Given the description of an element on the screen output the (x, y) to click on. 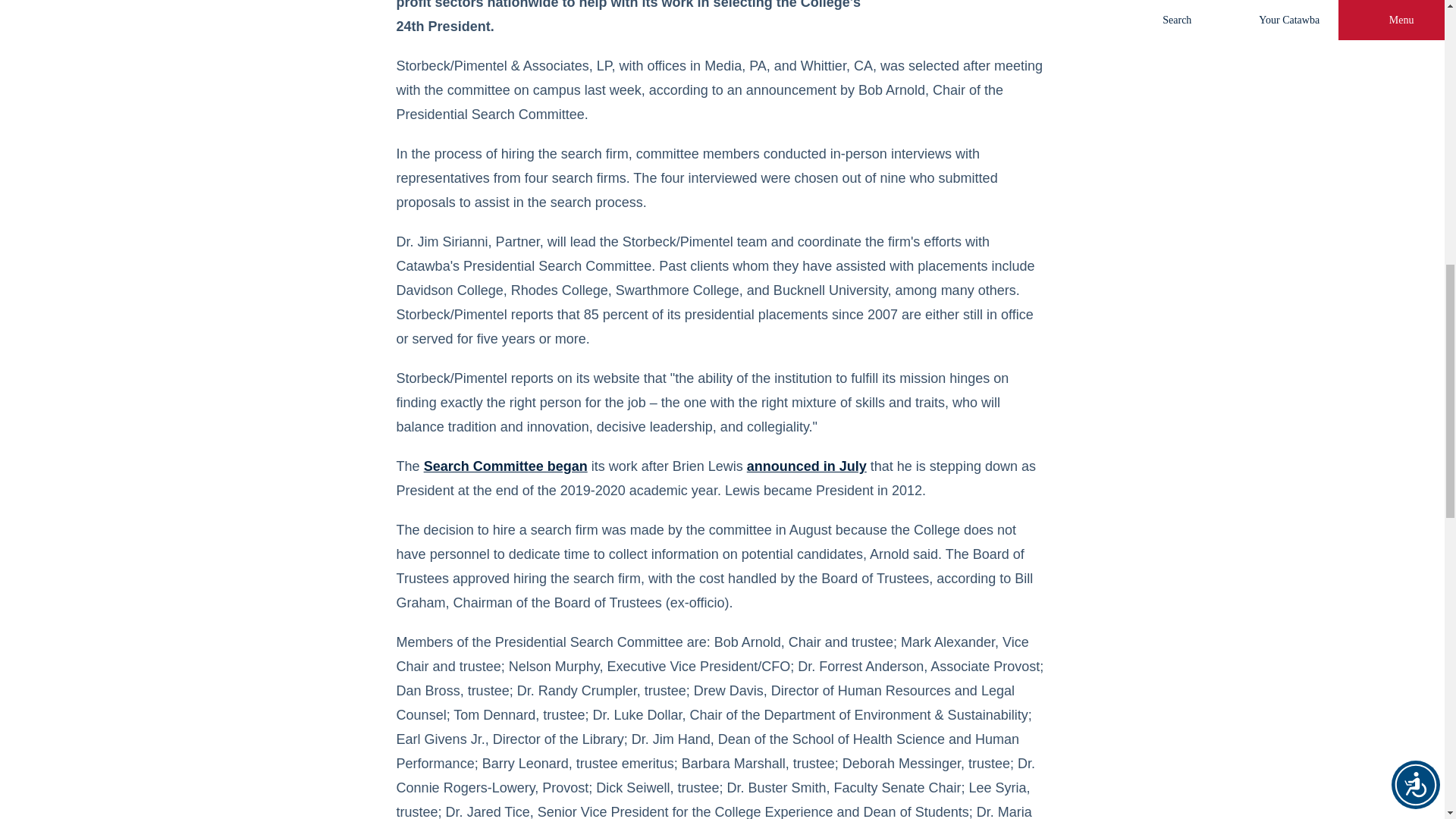
announced in July (806, 466)
Search Committee began (505, 466)
